Given the description of an element on the screen output the (x, y) to click on. 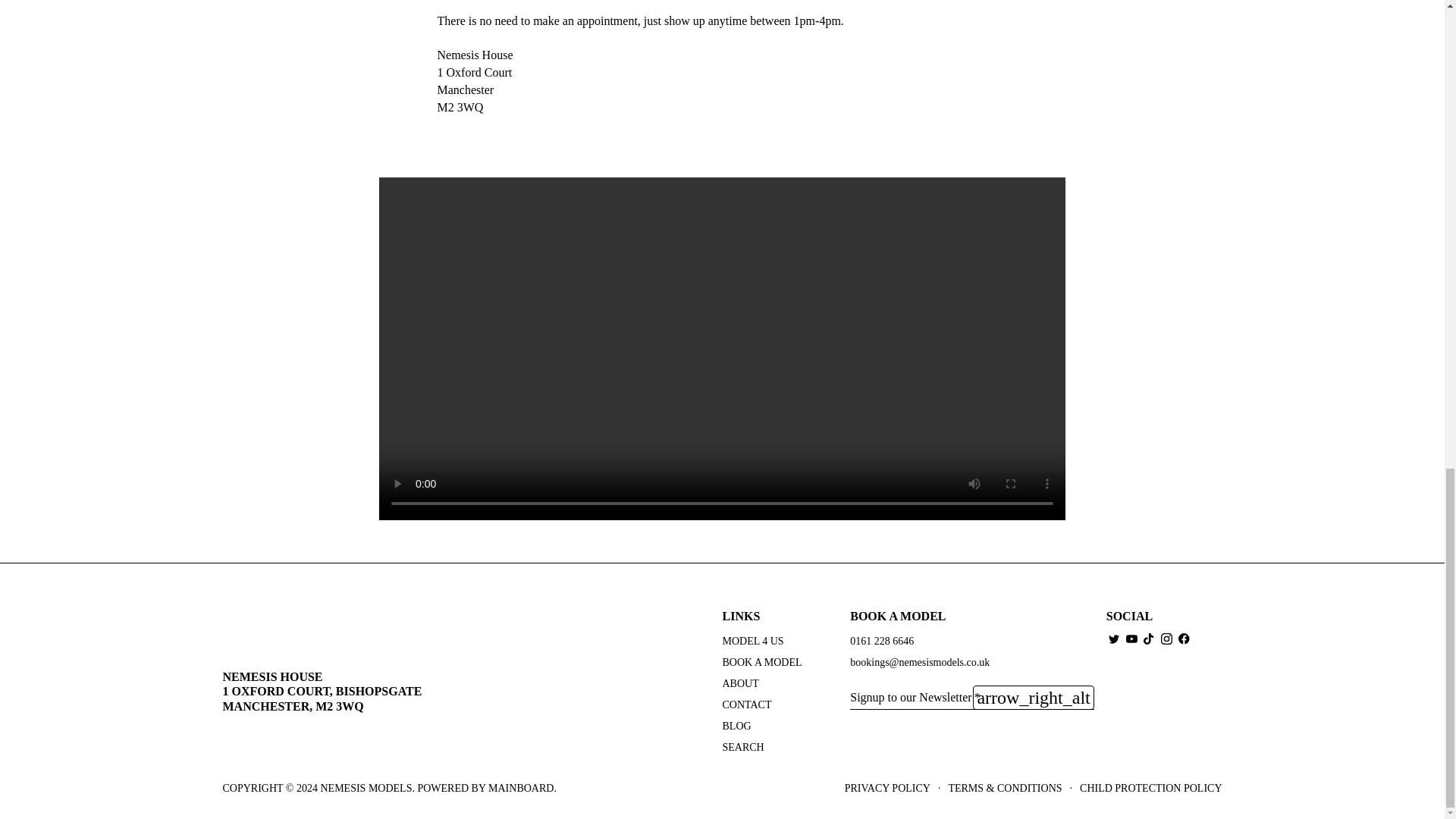
CONTACT (746, 704)
MODEL 4 US (752, 641)
BLOG (736, 726)
0161 228 6646 (882, 641)
SEARCH (742, 747)
ABOUT (740, 683)
BOOK A MODEL (762, 662)
MAINBOARD (520, 787)
PRIVACY POLICY (887, 788)
